Given the description of an element on the screen output the (x, y) to click on. 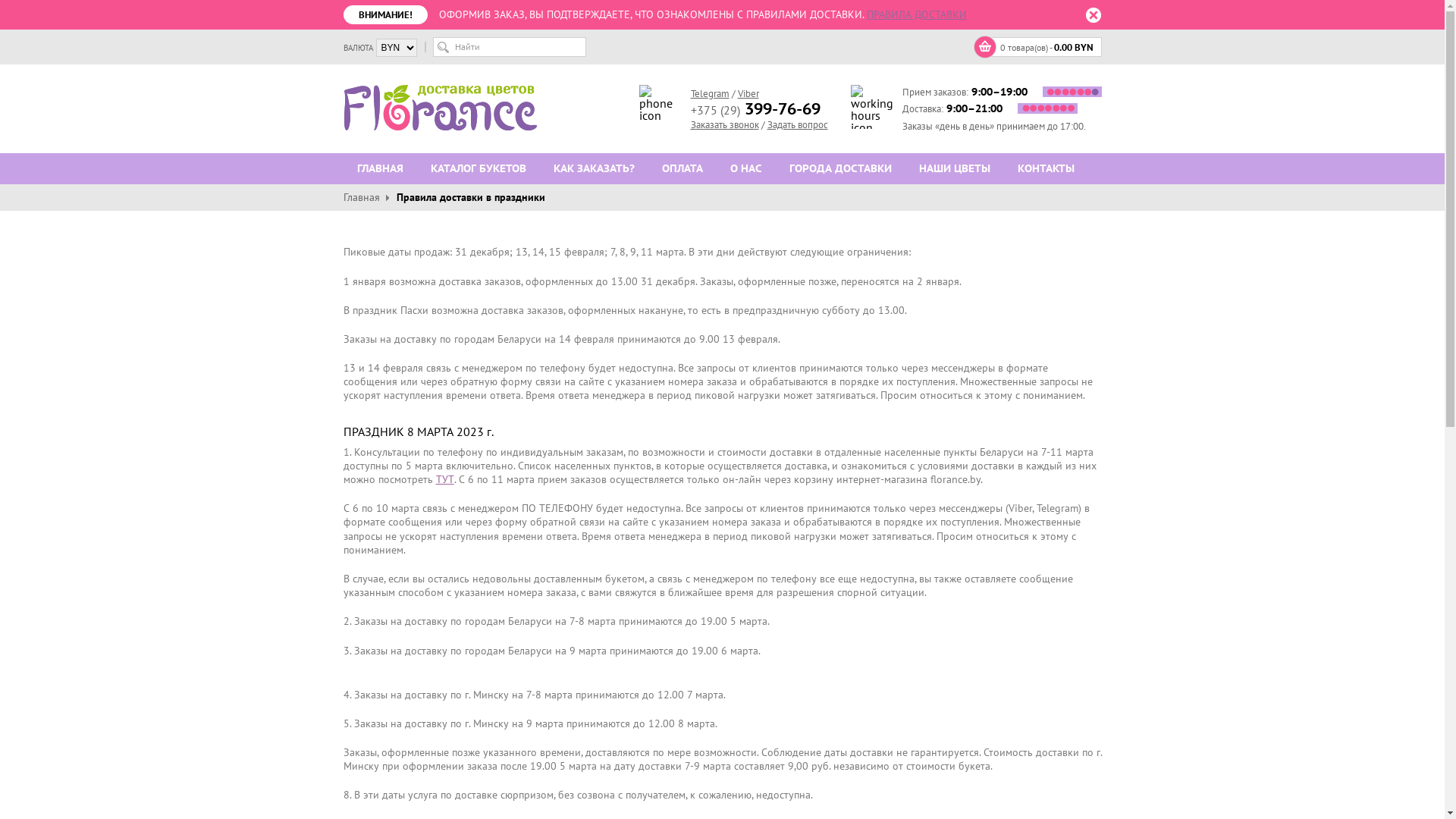
/ Element type: text (762, 124)
Florance Element type: hover (439, 107)
Telegram Element type: text (709, 93)
/ Element type: text (733, 93)
Viber Element type: text (747, 93)
